Given the description of an element on the screen output the (x, y) to click on. 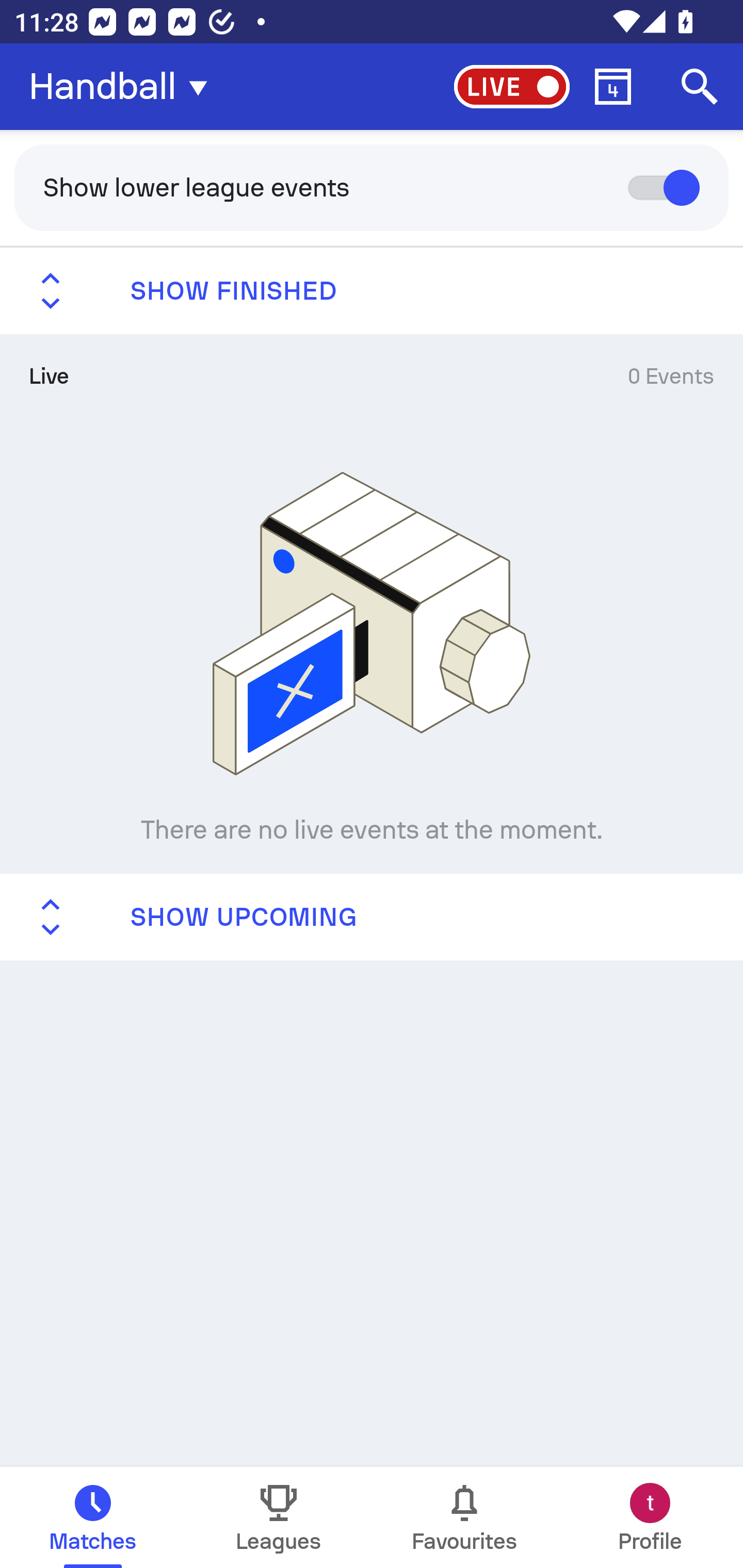
Handball (124, 86)
Calendar (612, 86)
Search (699, 86)
Show lower league events (371, 187)
SHOW FINISHED (371, 290)
SHOW UPCOMING (371, 916)
Leagues (278, 1517)
Favourites (464, 1517)
Profile (650, 1517)
